Given the description of an element on the screen output the (x, y) to click on. 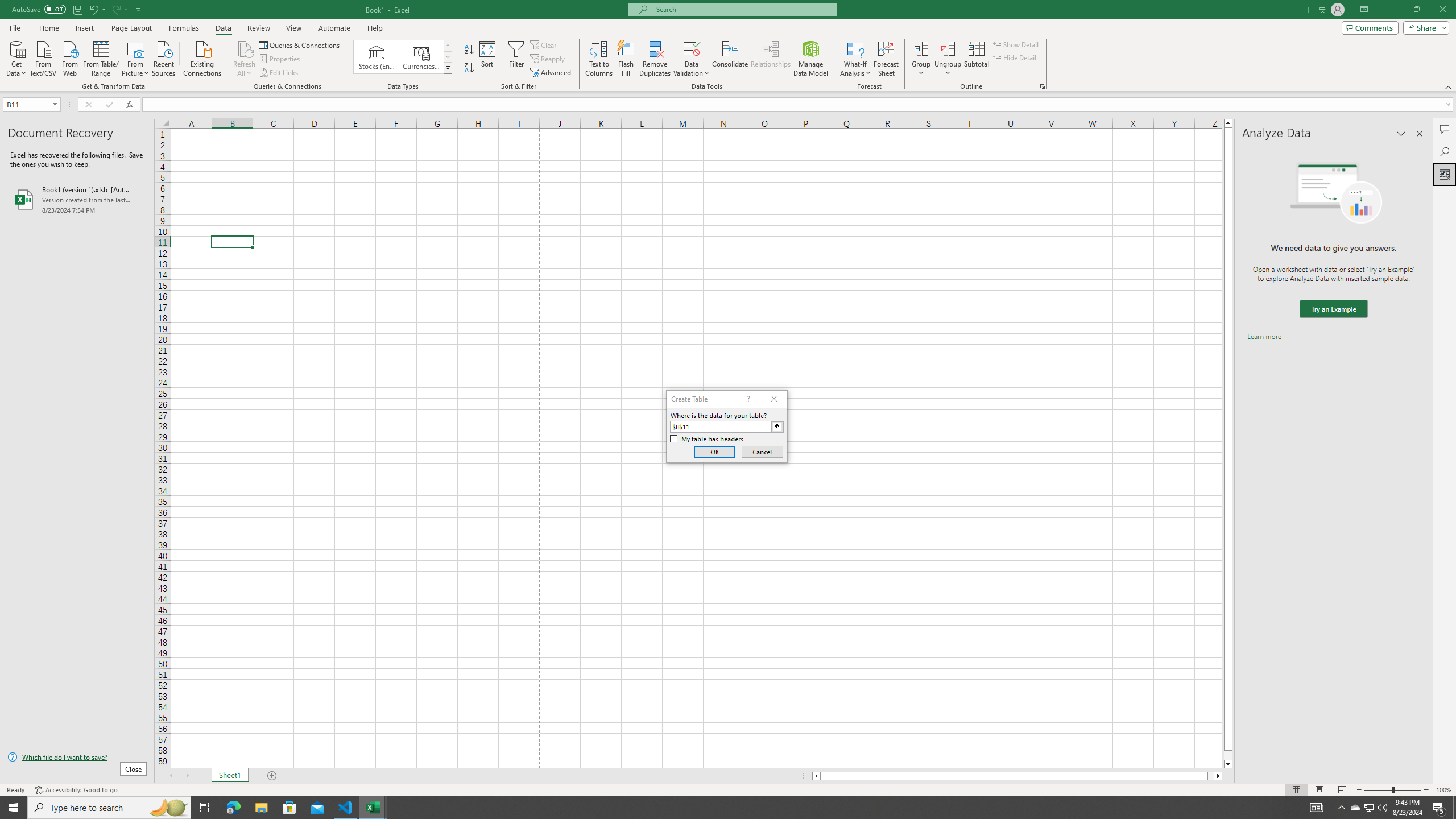
We need data to give you answers. Try an Example (1333, 308)
Sort Z to A (469, 67)
Data Types (448, 67)
Analyze Data (1444, 173)
